Given the description of an element on the screen output the (x, y) to click on. 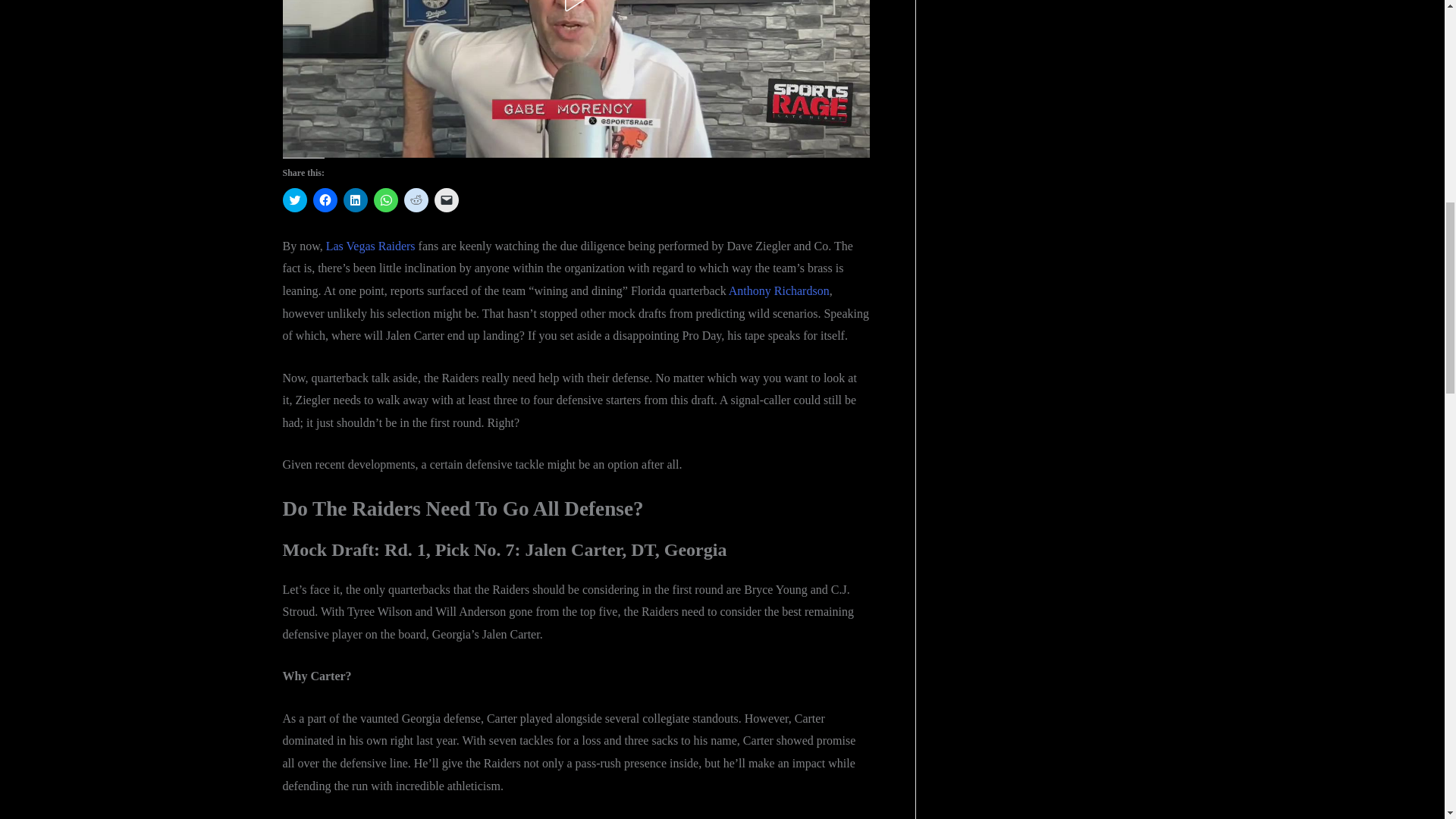
Las Vegas Raiders (370, 245)
Click to share on Facebook (324, 200)
Click to email a link to a friend (445, 200)
Click to share on Reddit (415, 200)
Anthony Richardson (779, 290)
Click to share on WhatsApp (384, 200)
Click to share on Twitter (293, 200)
Click to share on LinkedIn (354, 200)
